Given the description of an element on the screen output the (x, y) to click on. 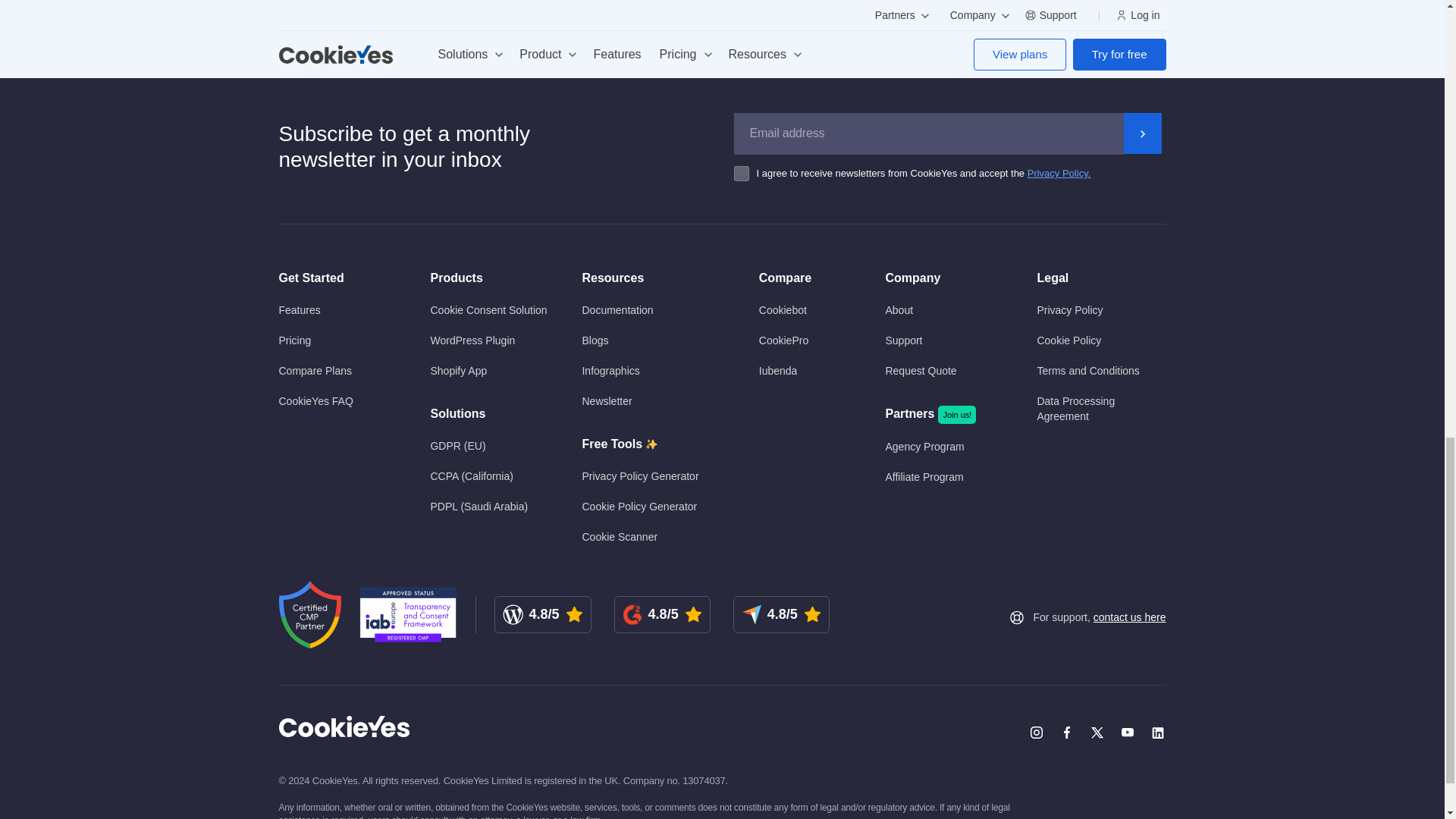
on (745, 173)
